Given the description of an element on the screen output the (x, y) to click on. 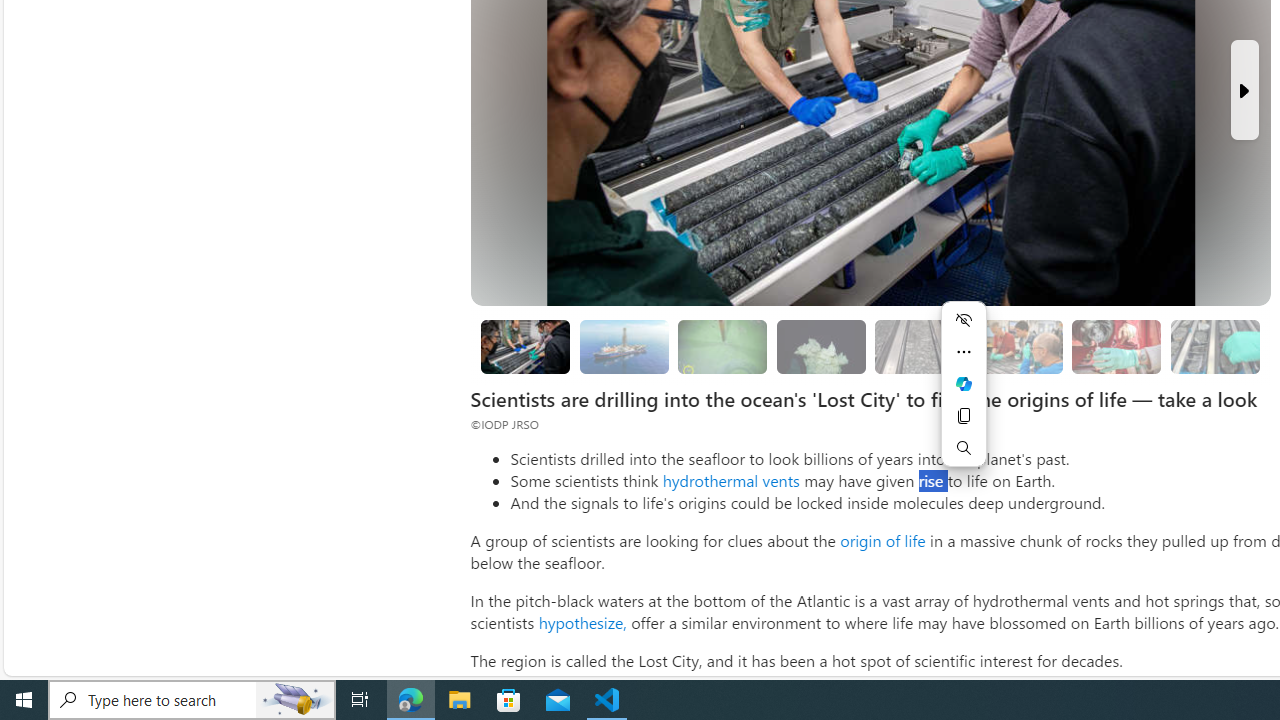
Mini menu on text selection (963, 395)
Researchers are still studying the samples (1214, 346)
Looking for evidence of oxygen-free life (1017, 346)
More actions (963, 351)
hypothesize, (582, 622)
hydrothermal vents (730, 480)
